Given the description of an element on the screen output the (x, y) to click on. 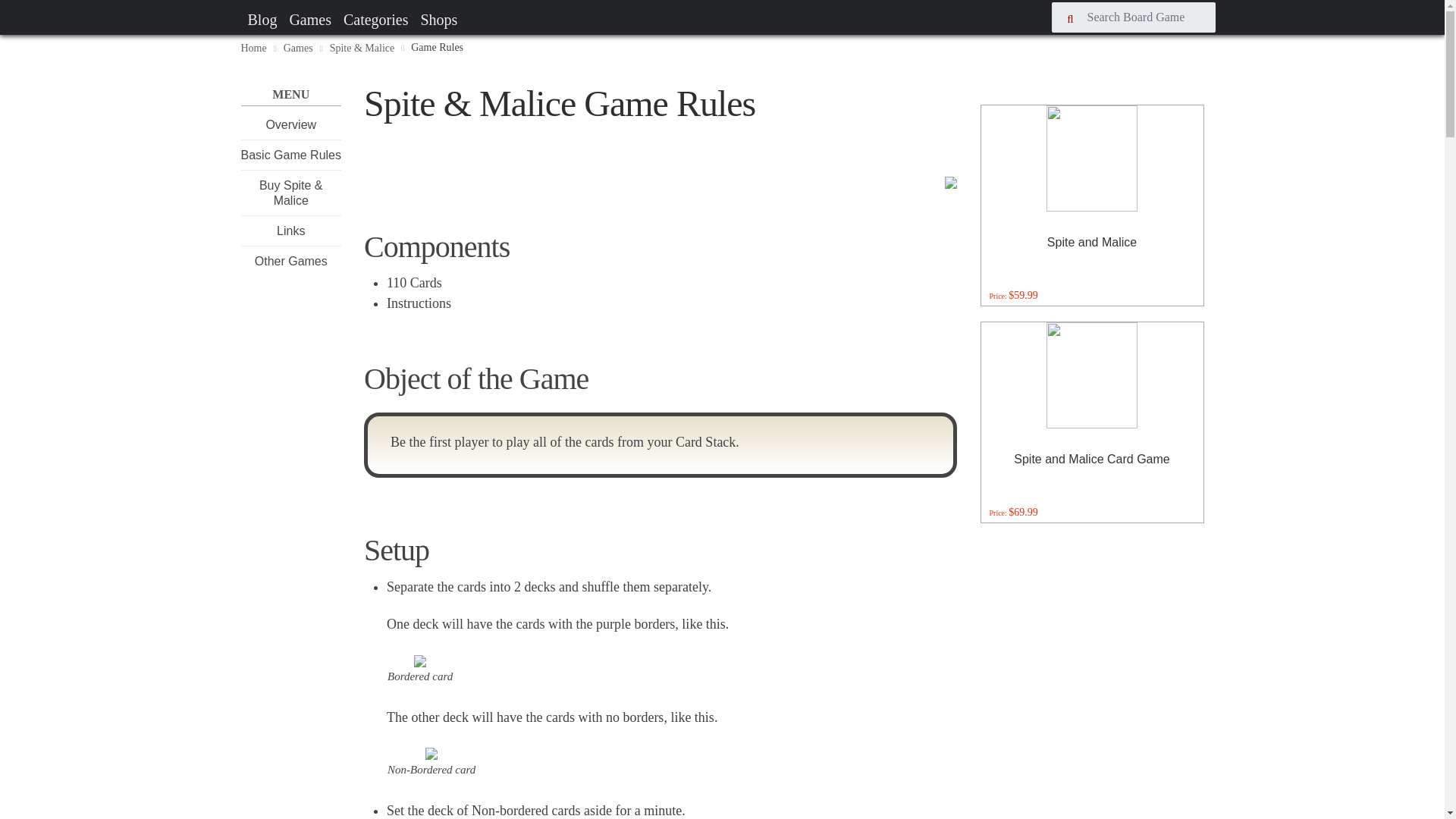
Shops (438, 19)
Games (309, 19)
Overview (289, 124)
Blog (261, 19)
Games (298, 48)
Other Games (290, 260)
Categories (375, 19)
Home (253, 48)
Basic Game Rules (291, 154)
Links (290, 230)
